Given the description of an element on the screen output the (x, y) to click on. 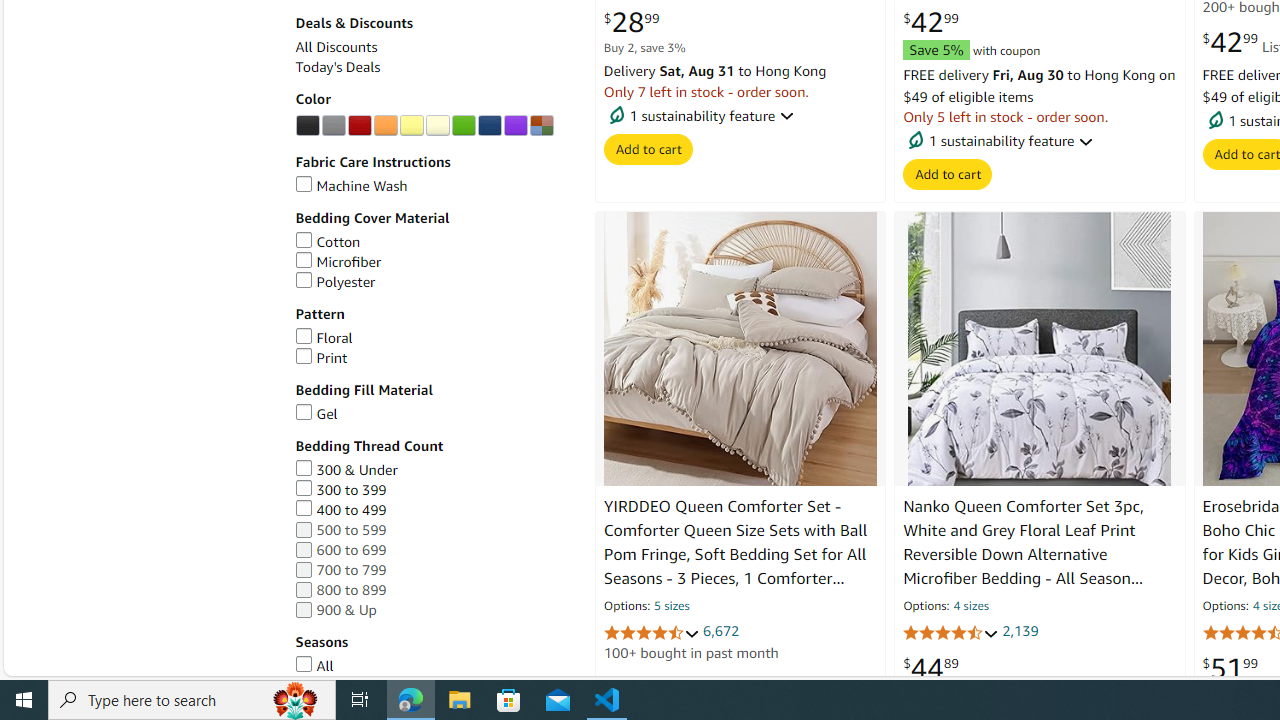
5 sizes (671, 606)
500 to 599 (434, 530)
4.4 out of 5 stars (950, 632)
Microfiber (337, 261)
300 & Under (346, 470)
Print (321, 357)
600 to 699 (434, 550)
4 sizes (970, 606)
AutomationID: p_n_feature_twenty_browse-bin/3254110011 (515, 125)
Polyester (434, 282)
700 to 799 (434, 570)
Skip to main search results (88, 666)
